Given the description of an element on the screen output the (x, y) to click on. 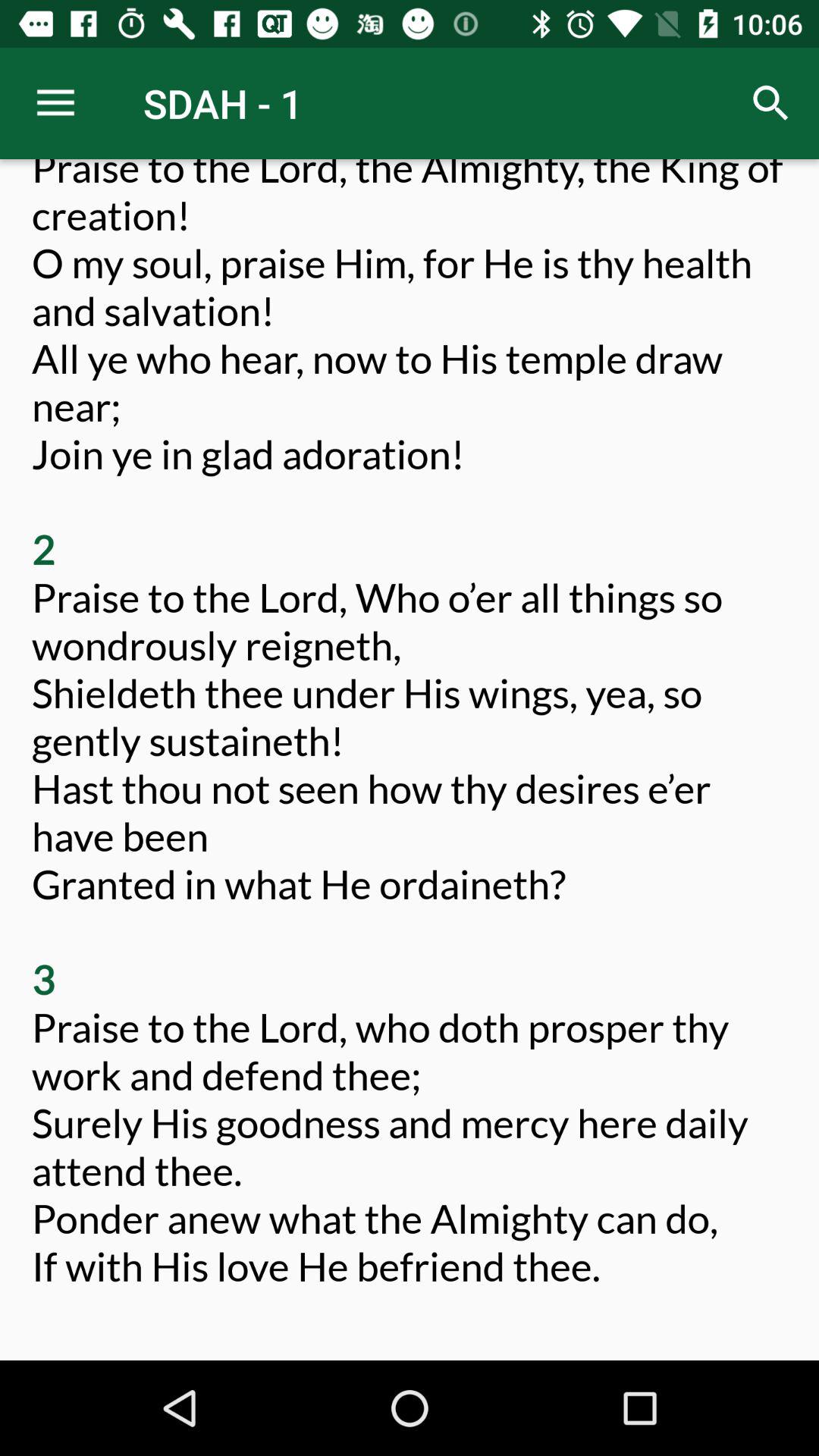
choose the icon to the left of sdah - 1 icon (55, 103)
